Given the description of an element on the screen output the (x, y) to click on. 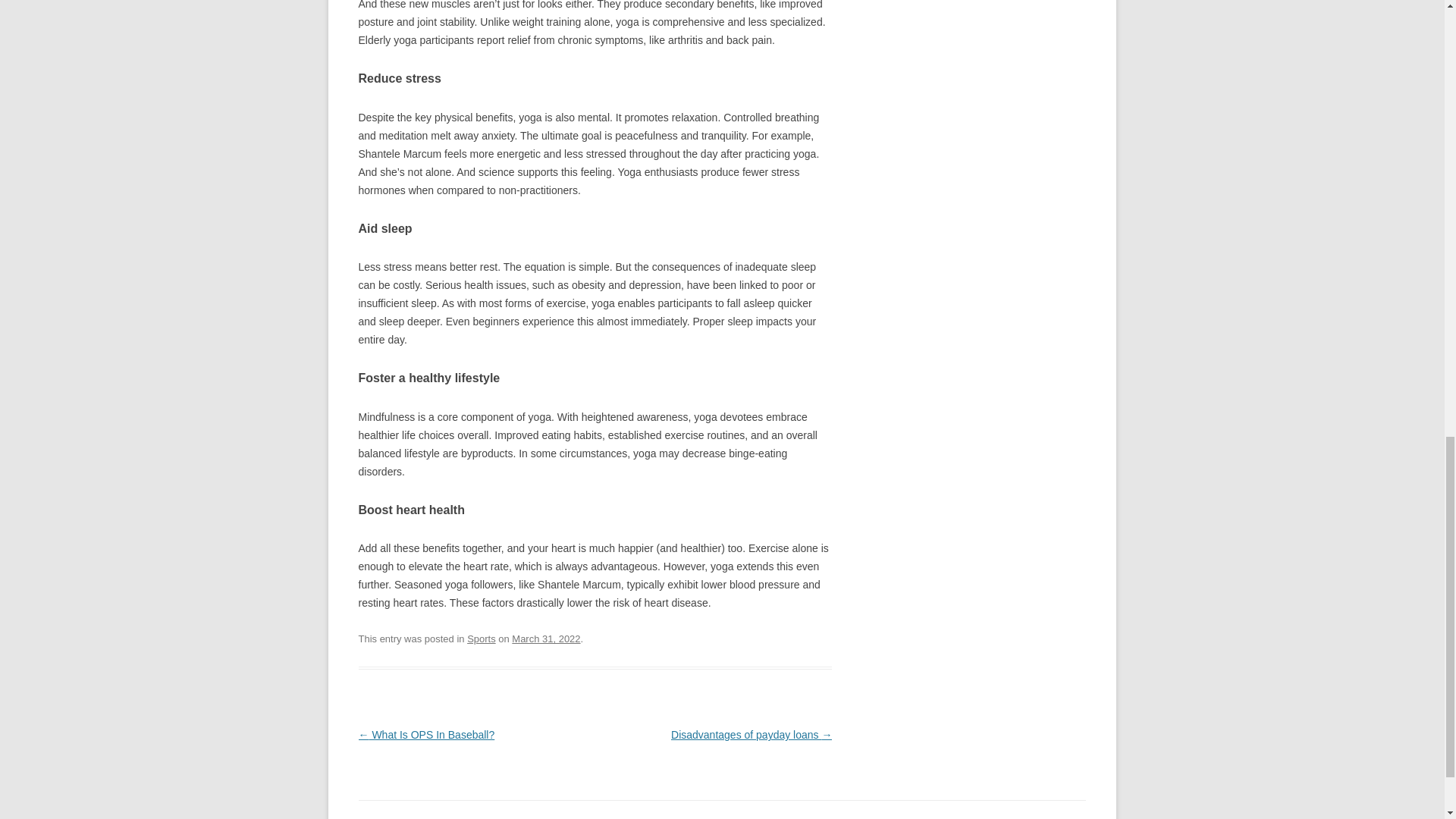
Sports (481, 638)
5:23 am (545, 638)
March 31, 2022 (545, 638)
